Given the description of an element on the screen output the (x, y) to click on. 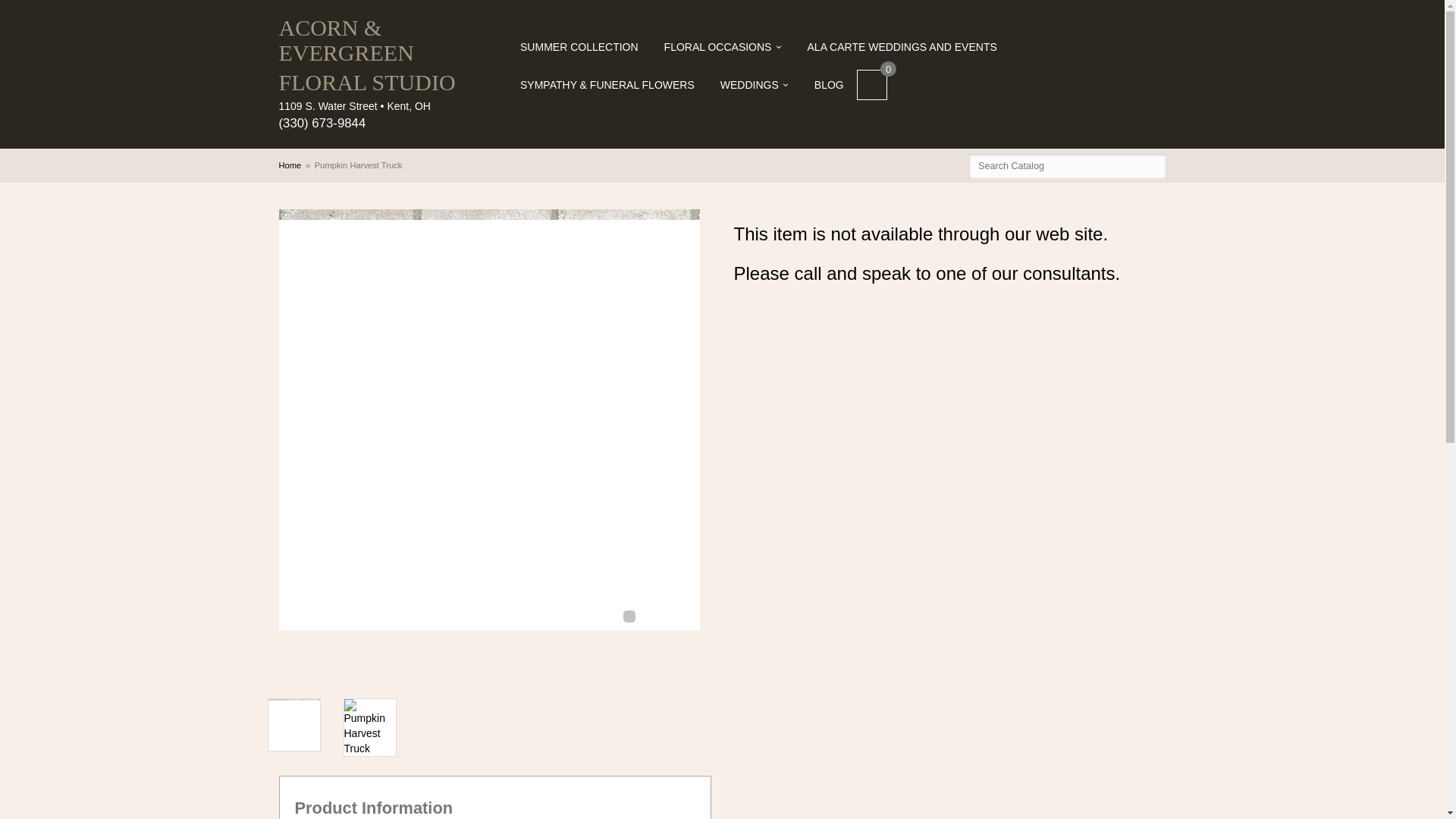
Home (290, 164)
ALA CARTE WEDDINGS AND EVENTS (902, 46)
SUMMER COLLECTION (578, 46)
FLORAL OCCASIONS (722, 46)
FLORAL STUDIO (393, 82)
BLOG (829, 85)
0 (871, 84)
WEDDINGS (754, 85)
